Given the description of an element on the screen output the (x, y) to click on. 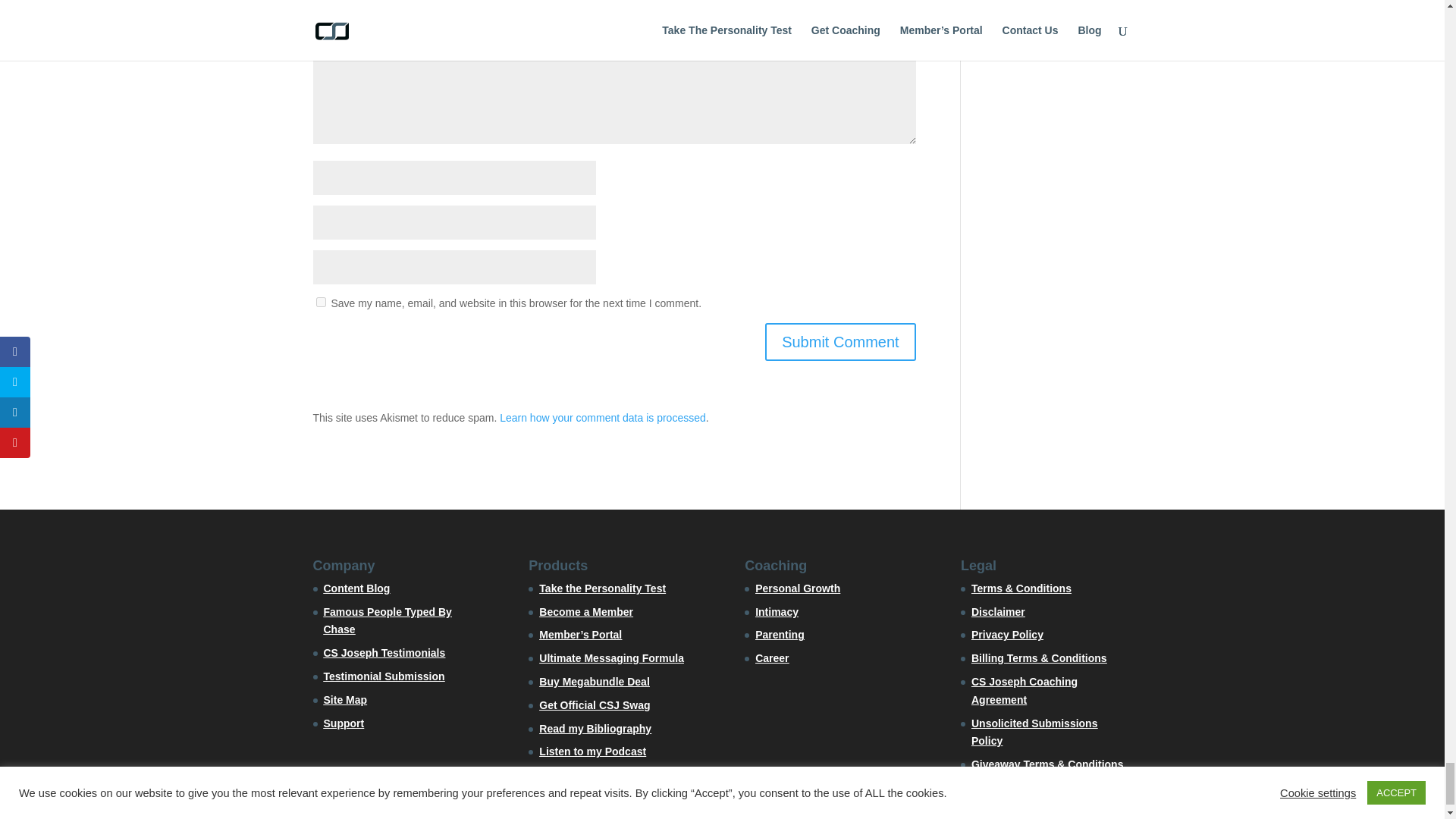
Learn how your comment data is processed (602, 417)
yes (319, 302)
Submit Comment (840, 341)
Submit Comment (840, 341)
